Given the description of an element on the screen output the (x, y) to click on. 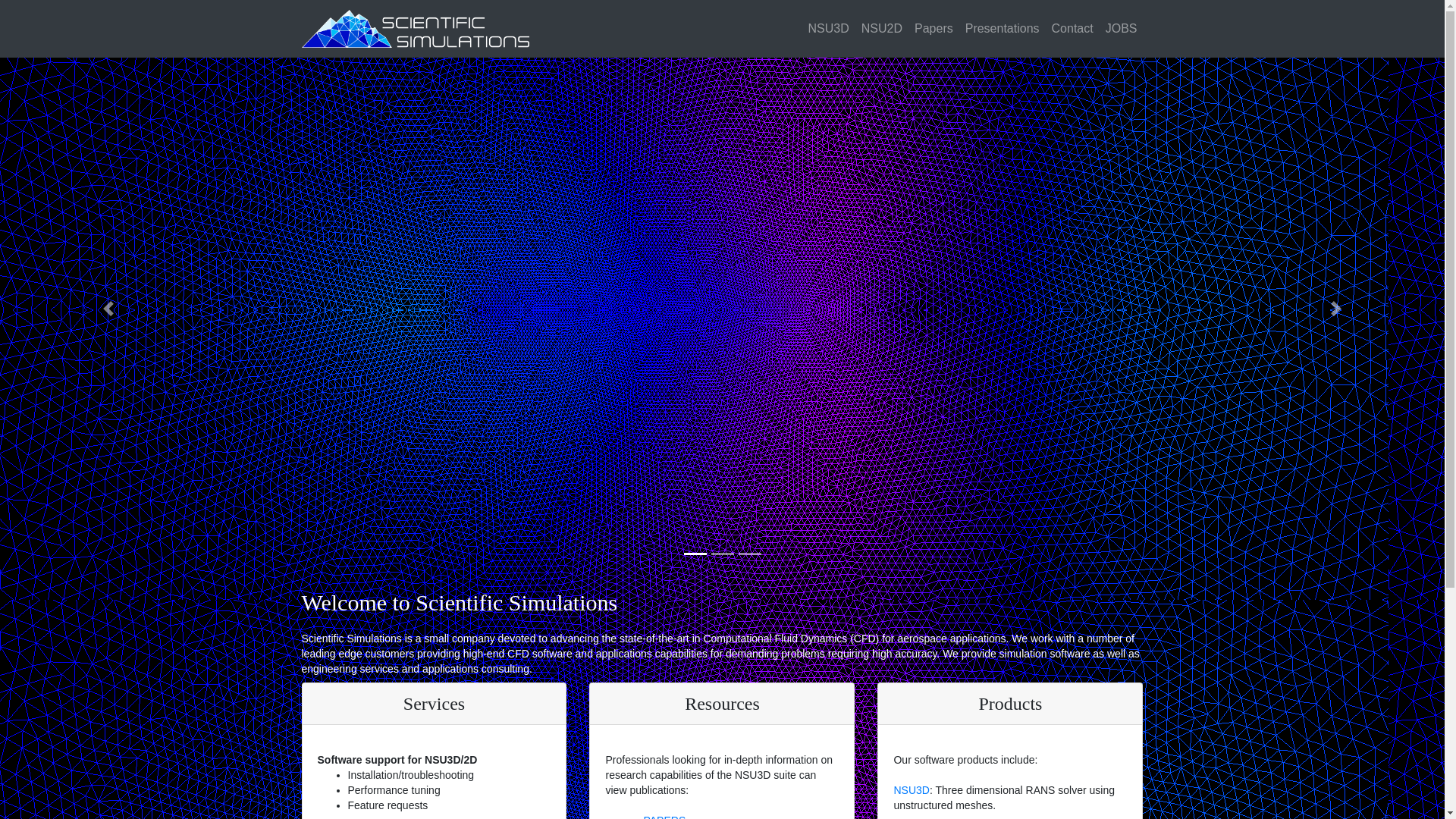
Contact (1072, 28)
Papers (933, 28)
JOBS (1120, 28)
NSU2D (882, 28)
PAPERS (664, 816)
Presentations (1002, 28)
NSU3D (910, 789)
NSU3D (829, 28)
